Given the description of an element on the screen output the (x, y) to click on. 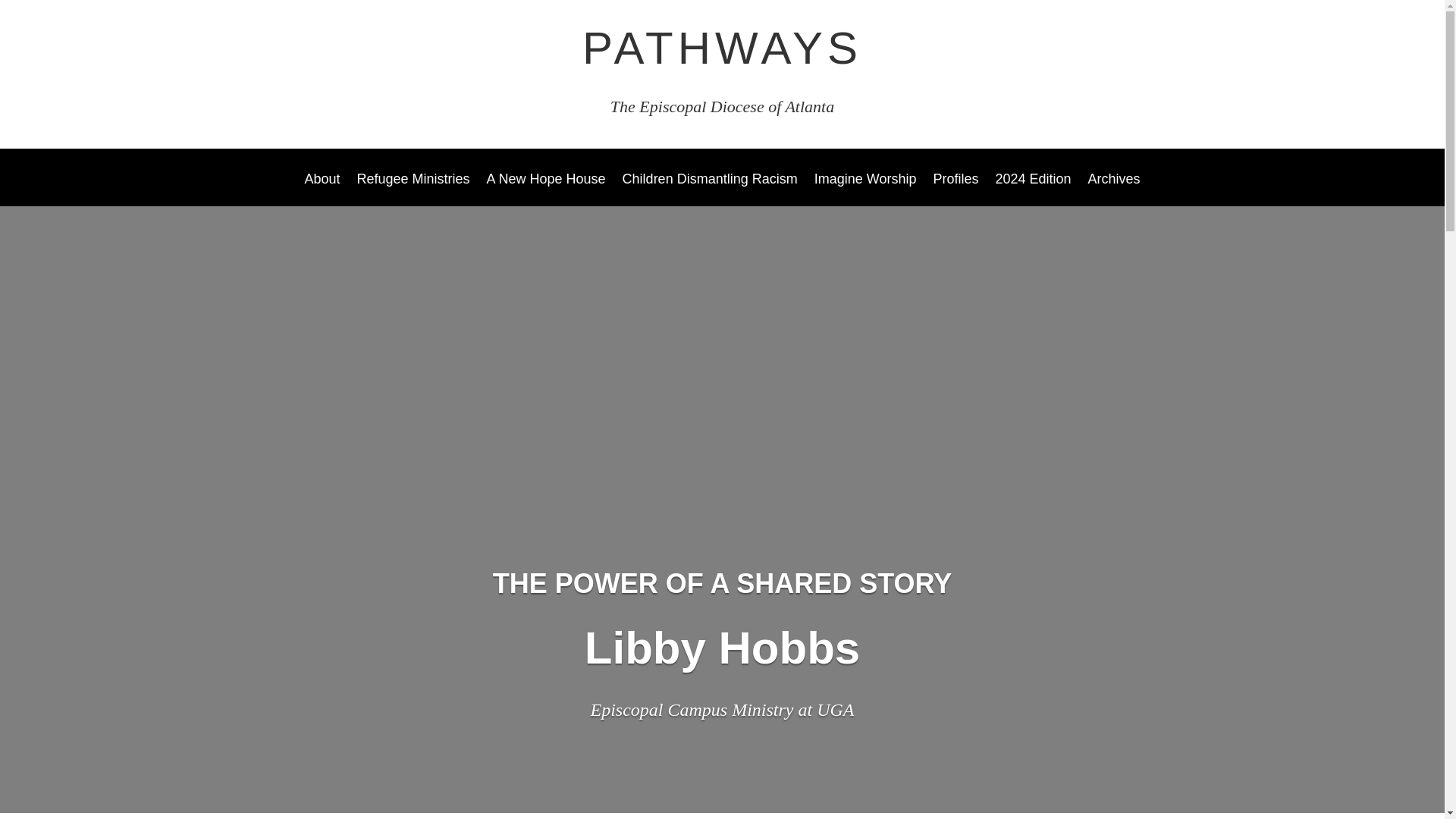
About (321, 189)
Profiles (955, 189)
Children Dismantling Racism (710, 189)
2024 Edition (1032, 189)
Imagine Worship (865, 189)
A New Hope House (545, 189)
PATHWAYS (721, 47)
Refugee Ministries (412, 189)
Archives (1113, 189)
